Given the description of an element on the screen output the (x, y) to click on. 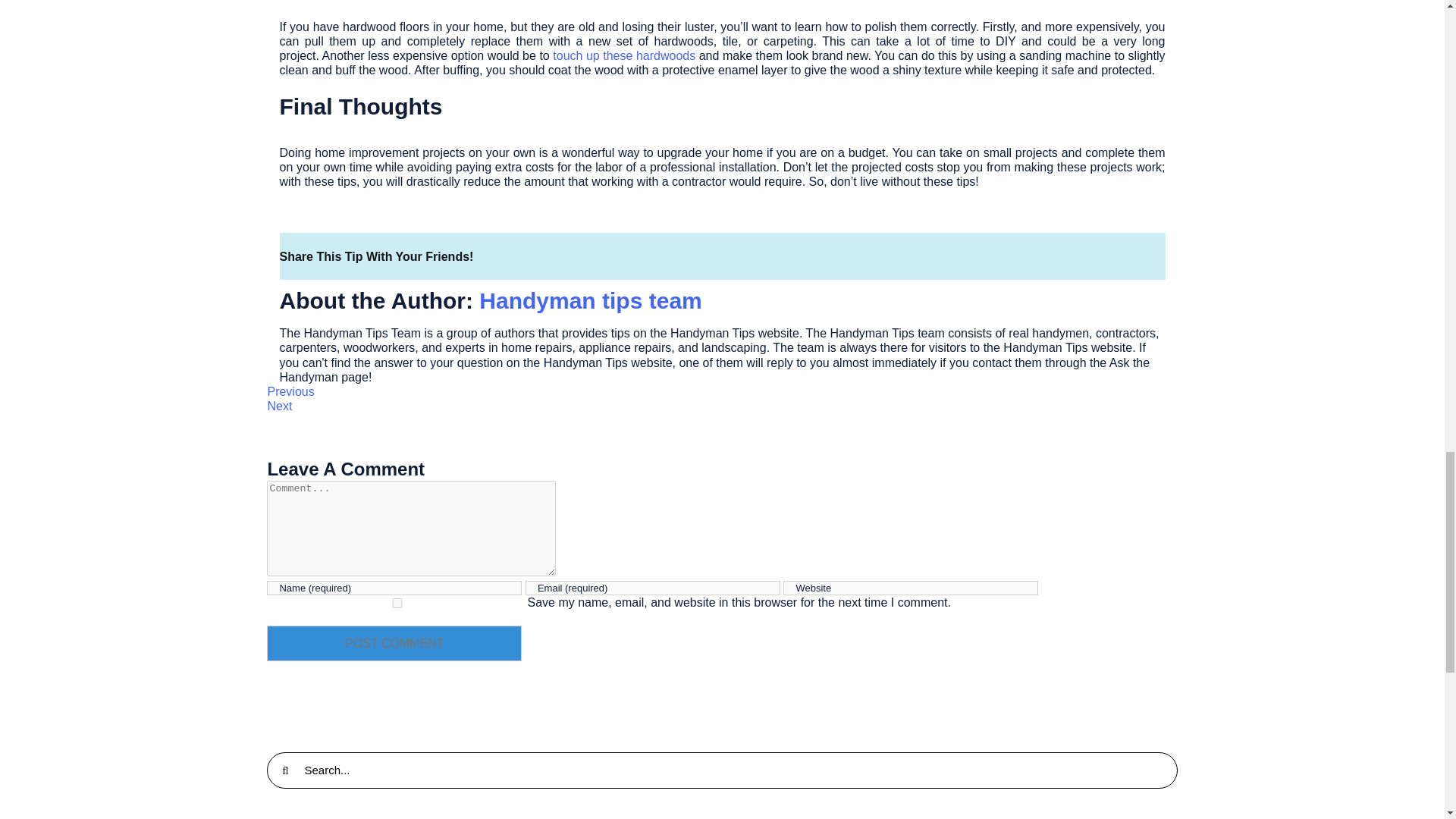
Handyman tips team (590, 300)
yes (396, 603)
Previous (290, 391)
Post Comment (393, 642)
touch up these hardwoods (624, 55)
Next (279, 405)
Post Comment (393, 642)
